Given the description of an element on the screen output the (x, y) to click on. 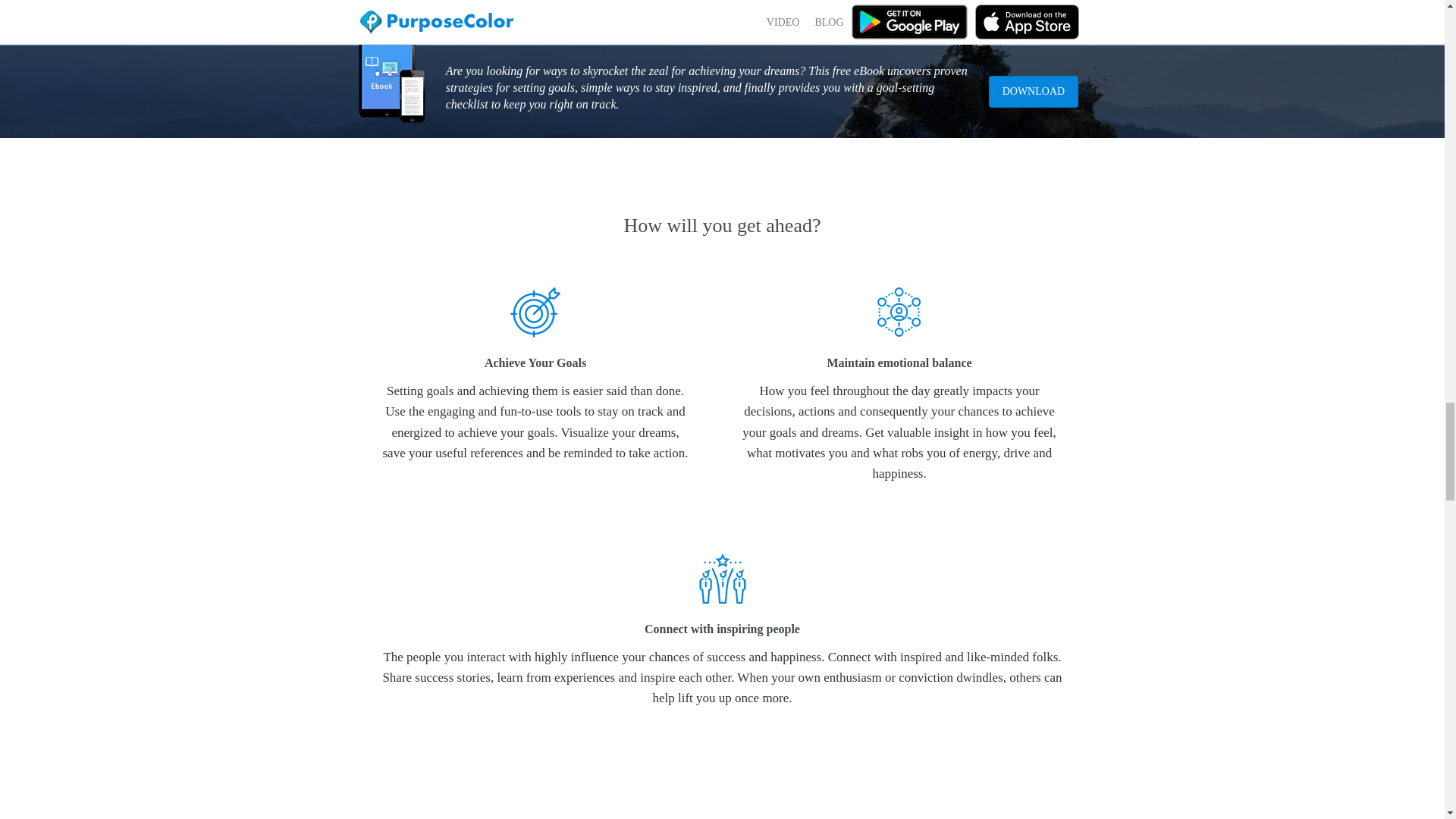
DOWNLOAD (1033, 91)
